Given the description of an element on the screen output the (x, y) to click on. 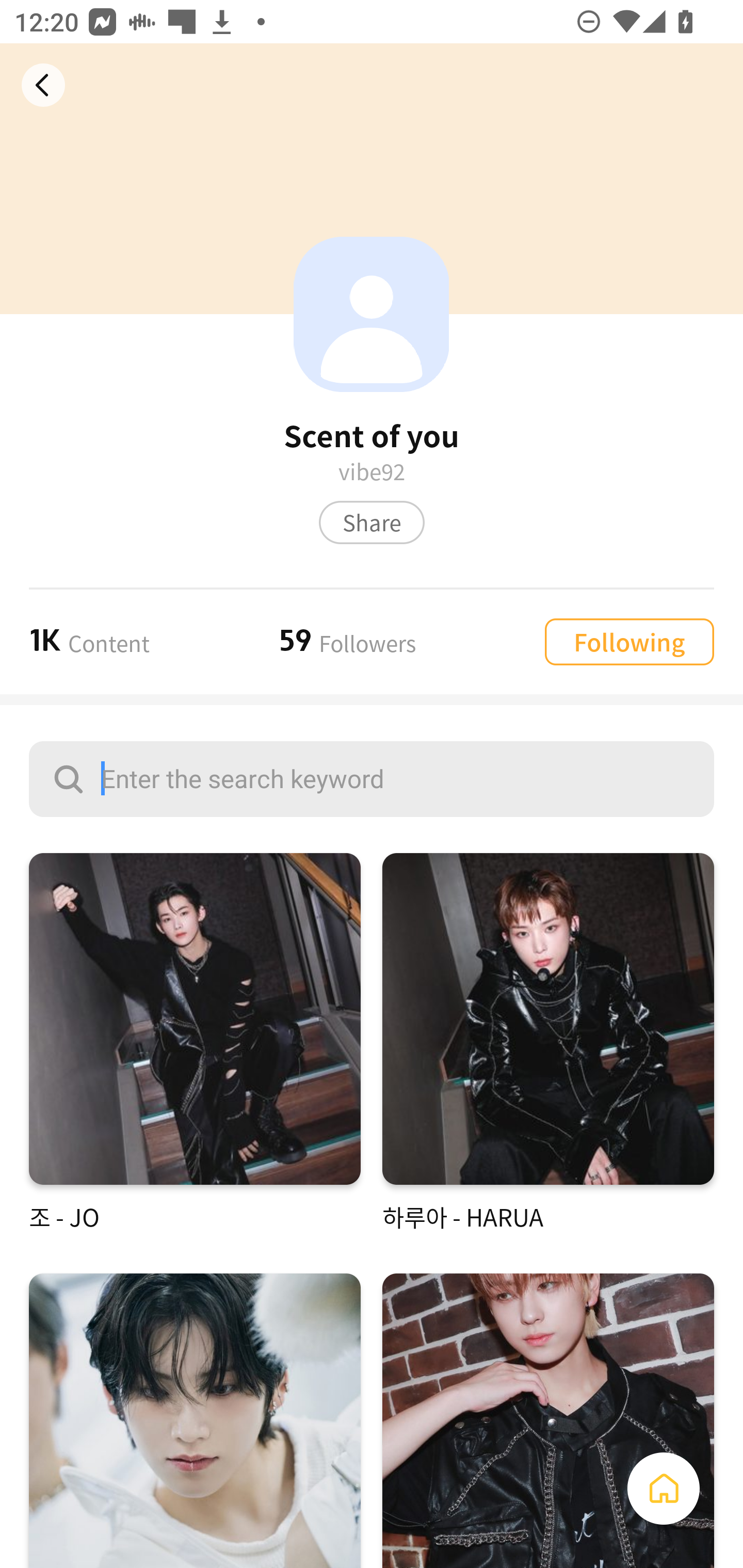
Share (371, 522)
Following (629, 640)
Enter the search keyword (371, 778)
조  -  JO (194, 1043)
하루아  -  HARUA (548, 1043)
